Given the description of an element on the screen output the (x, y) to click on. 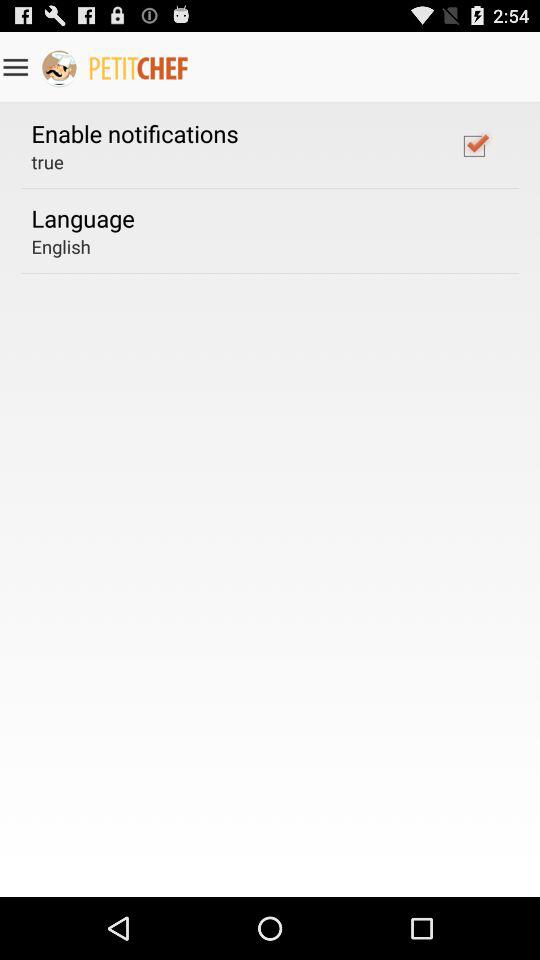
launch english (60, 246)
